Given the description of an element on the screen output the (x, y) to click on. 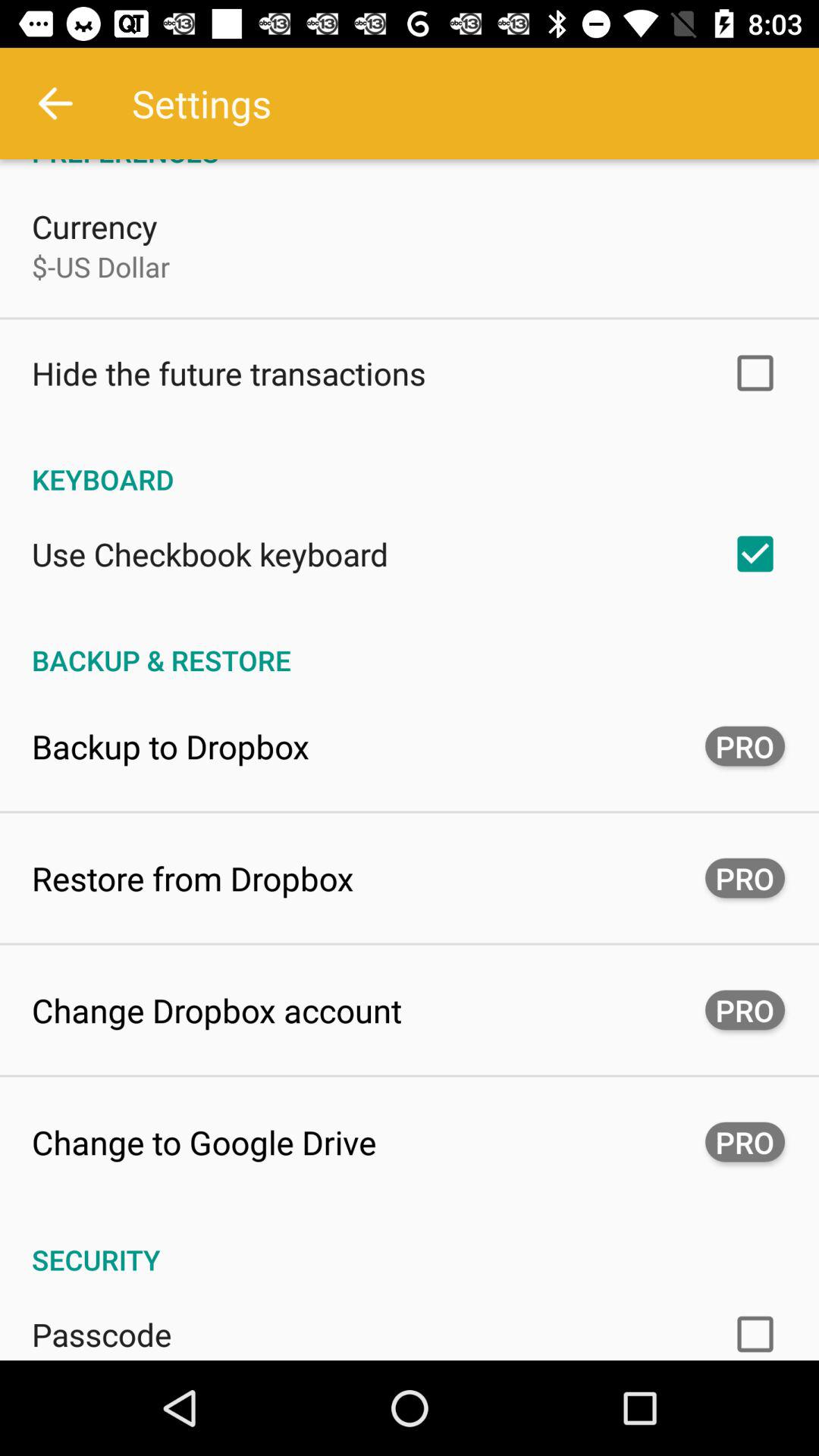
turn off the app above the preferences app (55, 103)
